Given the description of an element on the screen output the (x, y) to click on. 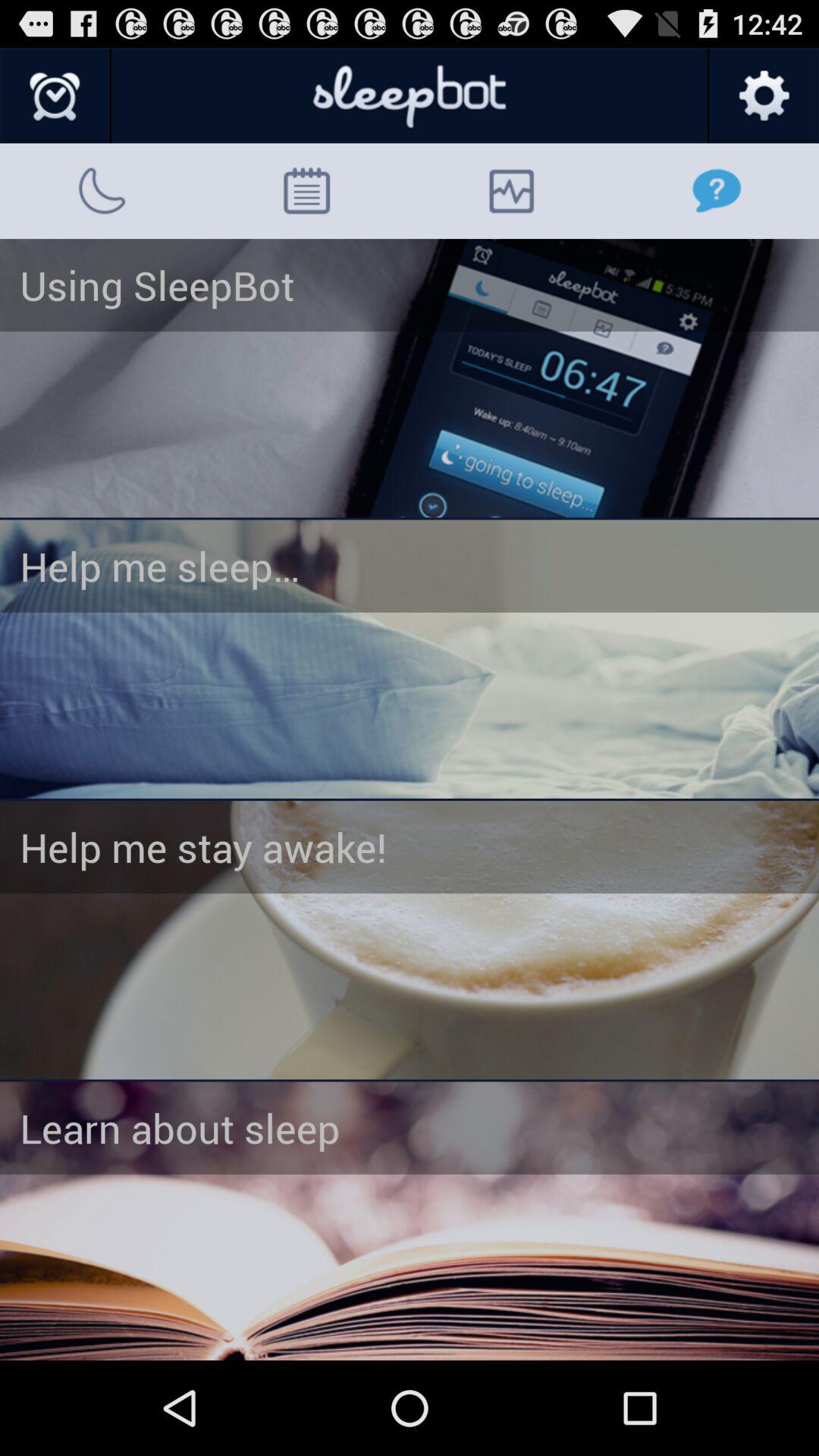
learn about sleep (409, 1220)
